Given the description of an element on the screen output the (x, y) to click on. 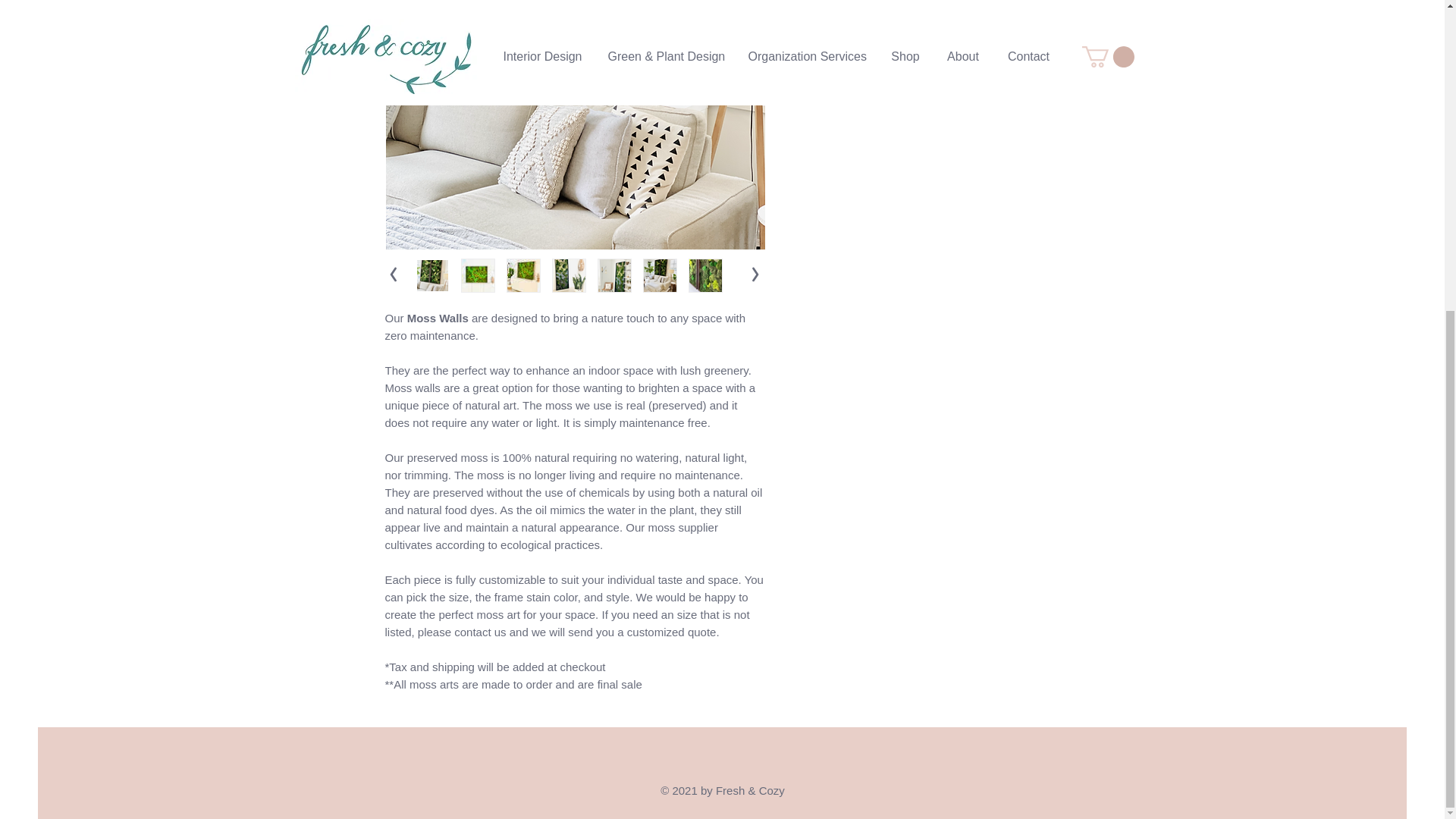
Add to Cart (924, 45)
1 (818, 3)
